Given the description of an element on the screen output the (x, y) to click on. 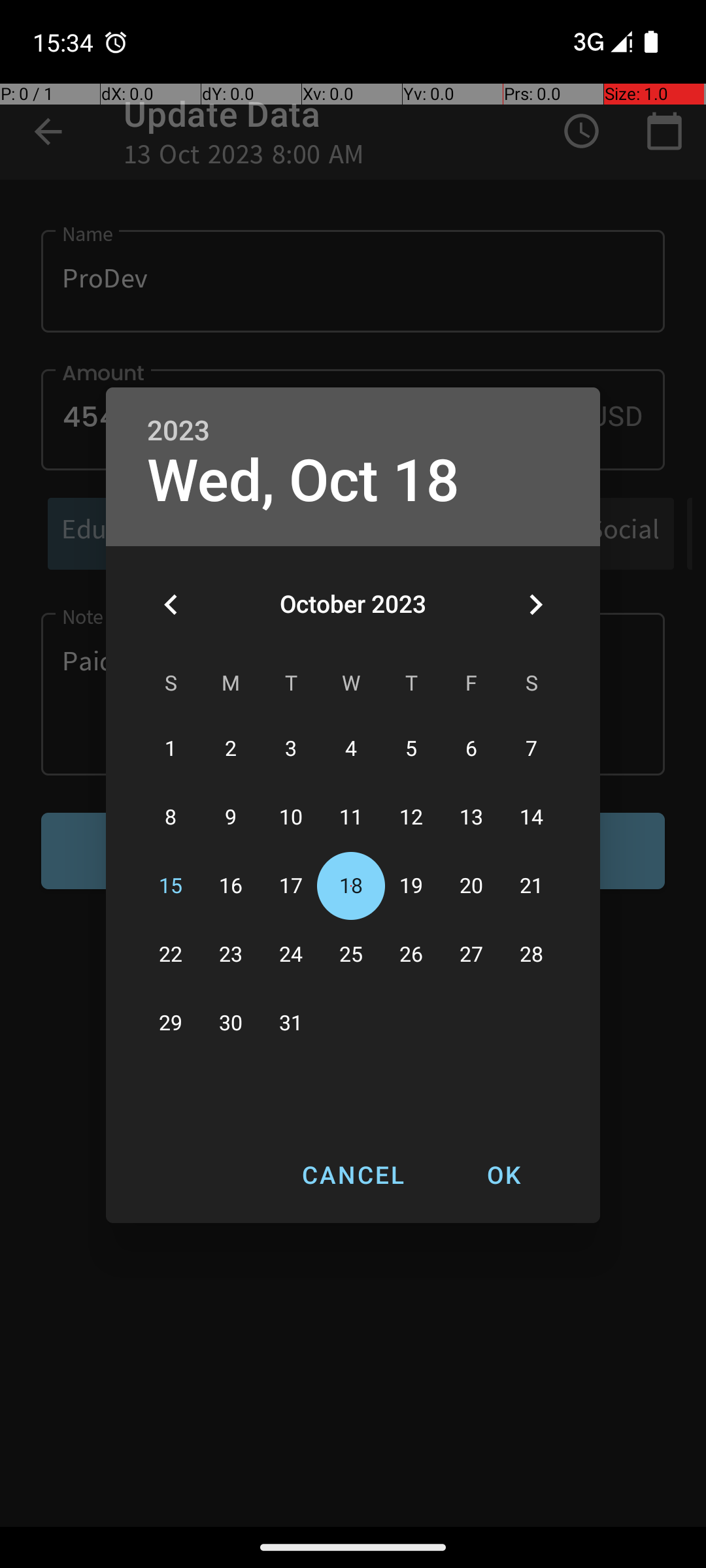
Wed, Oct 18 Element type: android.widget.TextView (303, 480)
